Given the description of an element on the screen output the (x, y) to click on. 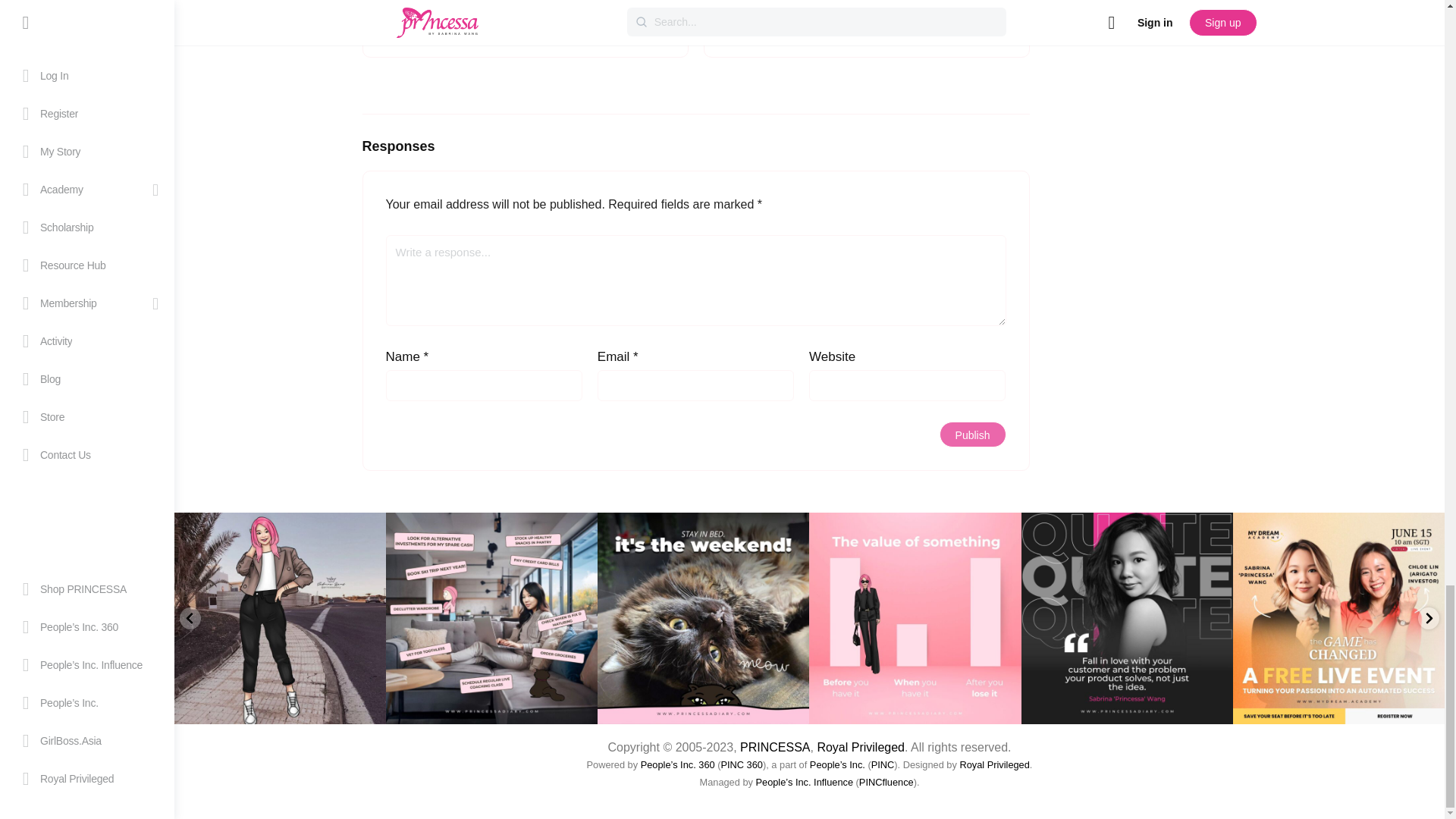
Publish (972, 434)
